Given the description of an element on the screen output the (x, y) to click on. 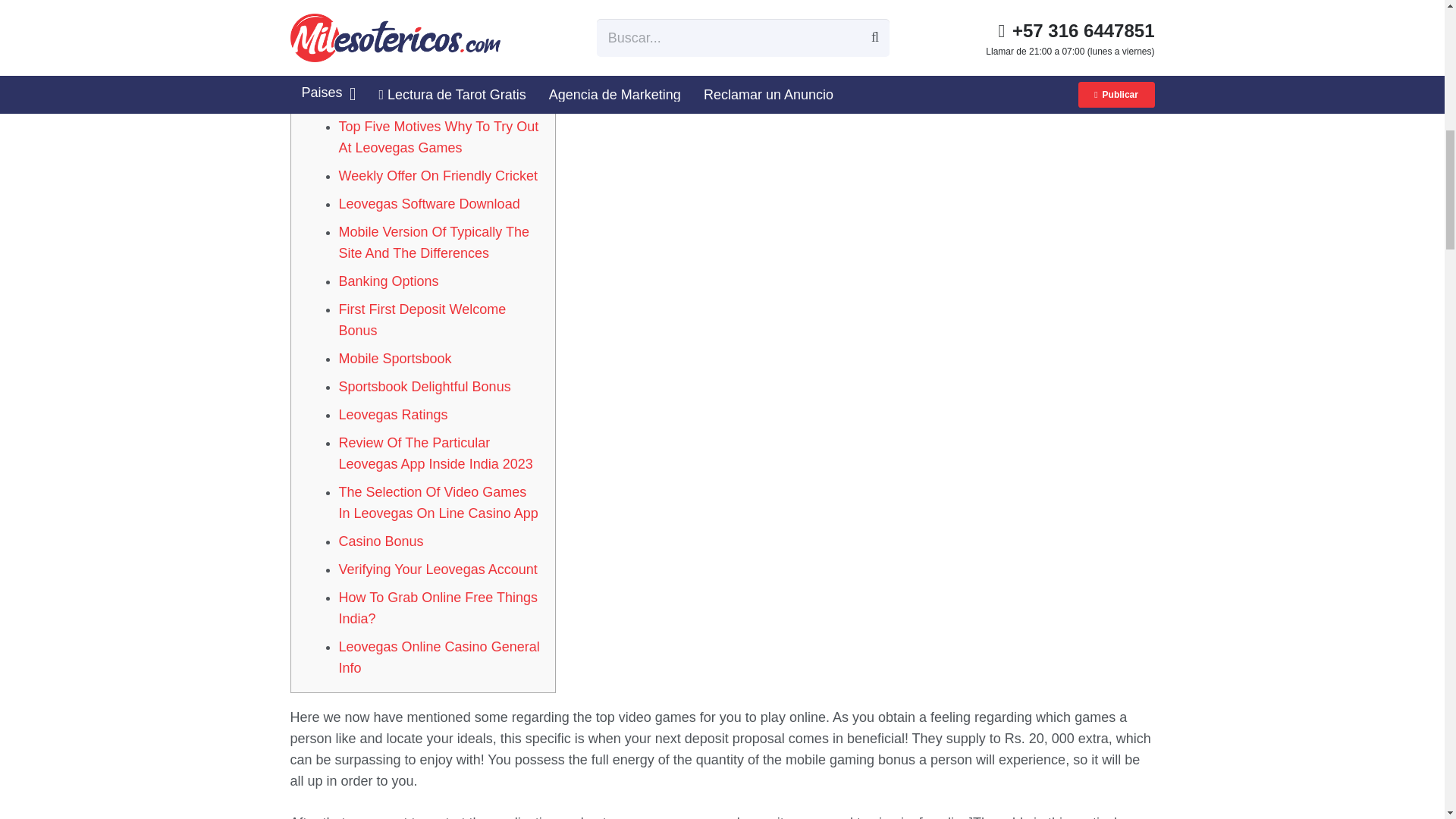
Volver arriba (1413, 26)
Leovegas Cellular Website (418, 20)
Weekly Offer On Friendly Cricket (437, 175)
Top Five Motives Why To Try Out At Leovegas Games (437, 136)
Leovegas Promotions (403, 48)
Cashback Offers Upon Online Shopping India (428, 87)
